Given the description of an element on the screen output the (x, y) to click on. 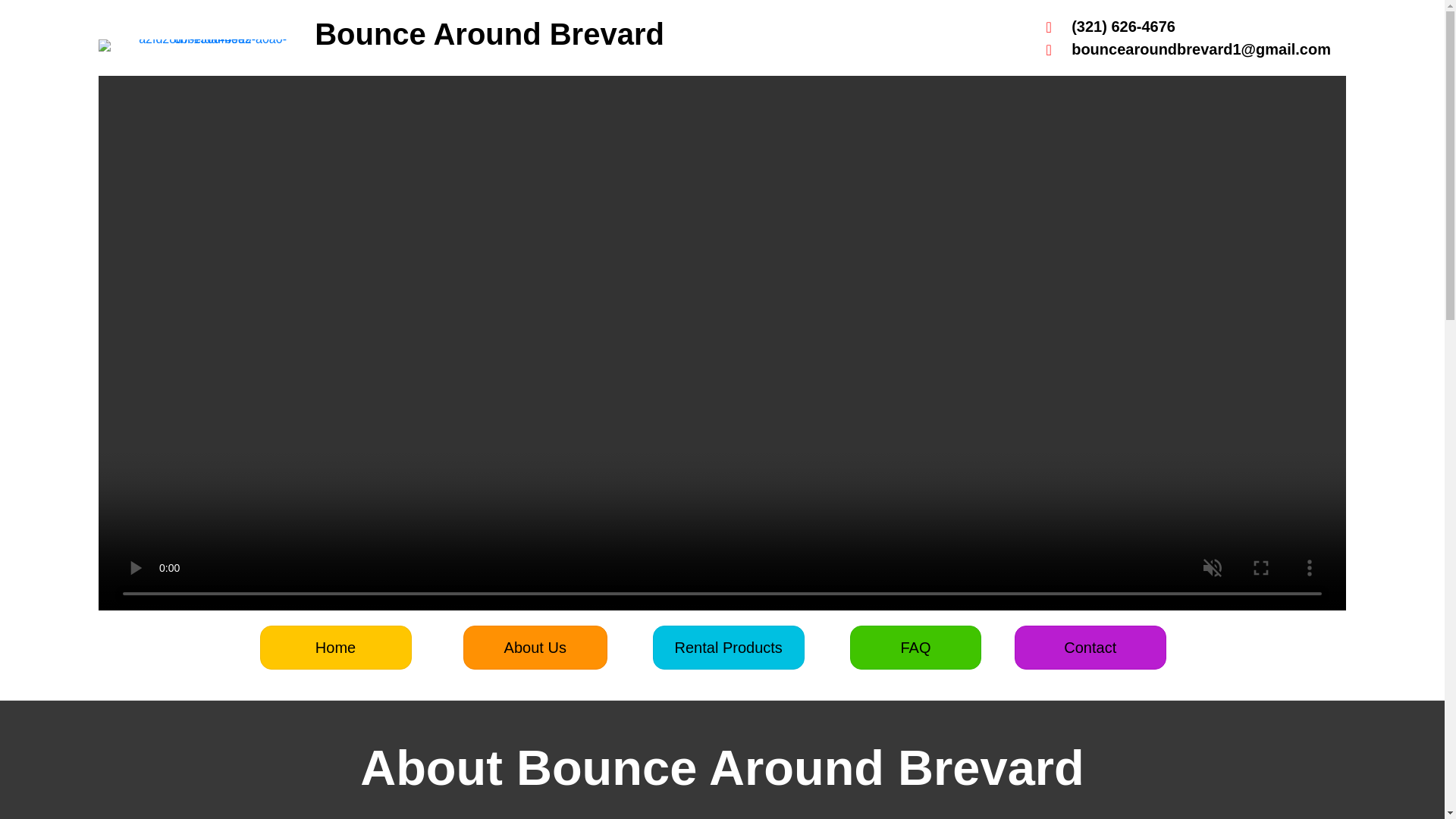
Contact (1090, 647)
Bounce Around Brevard (488, 33)
FAQ (915, 647)
Rental Products (728, 647)
Home (336, 647)
a2fd28d7-136d-49e9-a0a0-0bbefda4bea2 (206, 45)
About Us (535, 647)
